Given the description of an element on the screen output the (x, y) to click on. 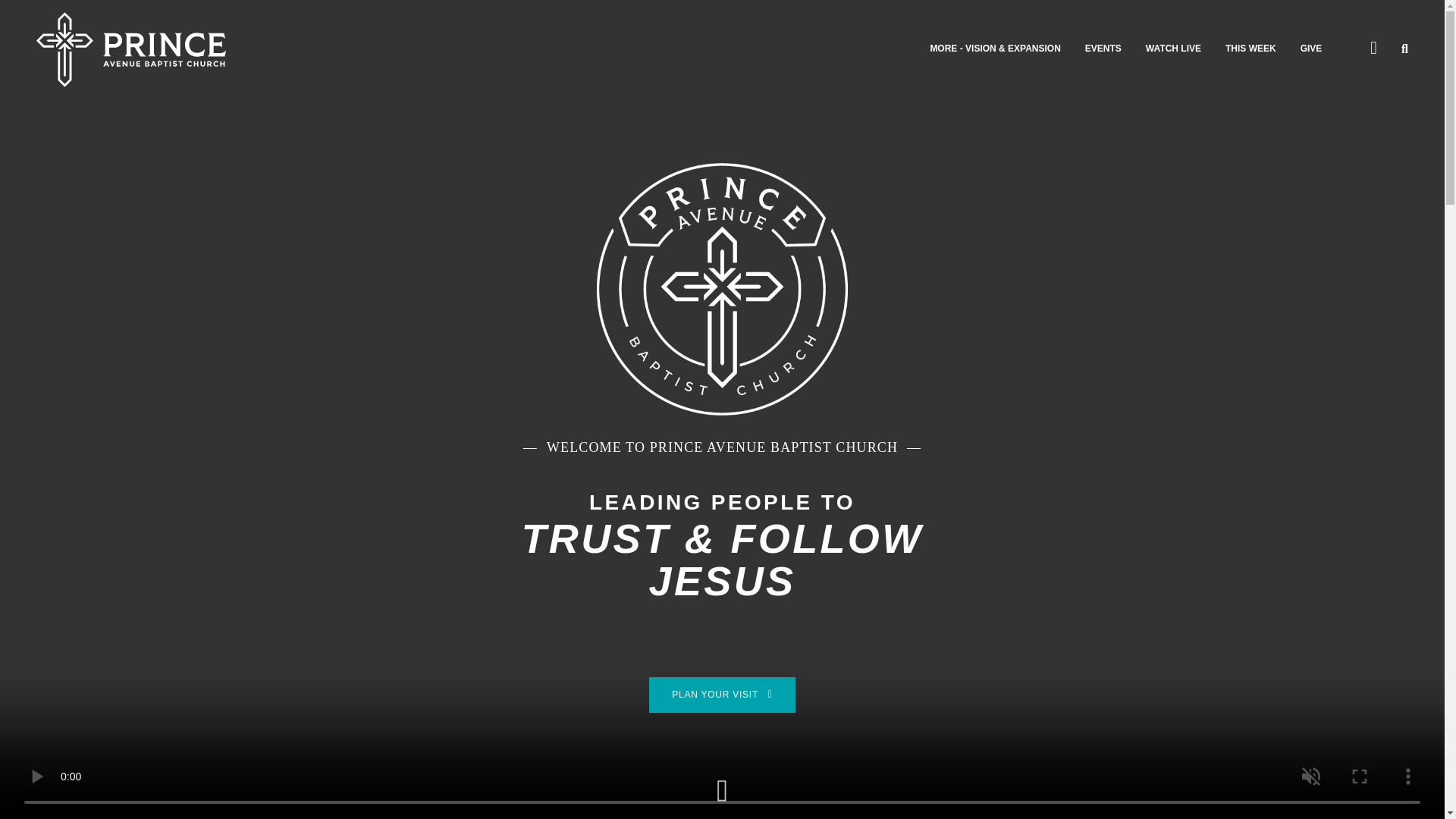
EVENTS (1102, 48)
WATCH LIVE (1173, 48)
GIVE (1311, 48)
Prince Avenue Baptist Church (130, 49)
THIS WEEK (1250, 48)
